Given the description of an element on the screen output the (x, y) to click on. 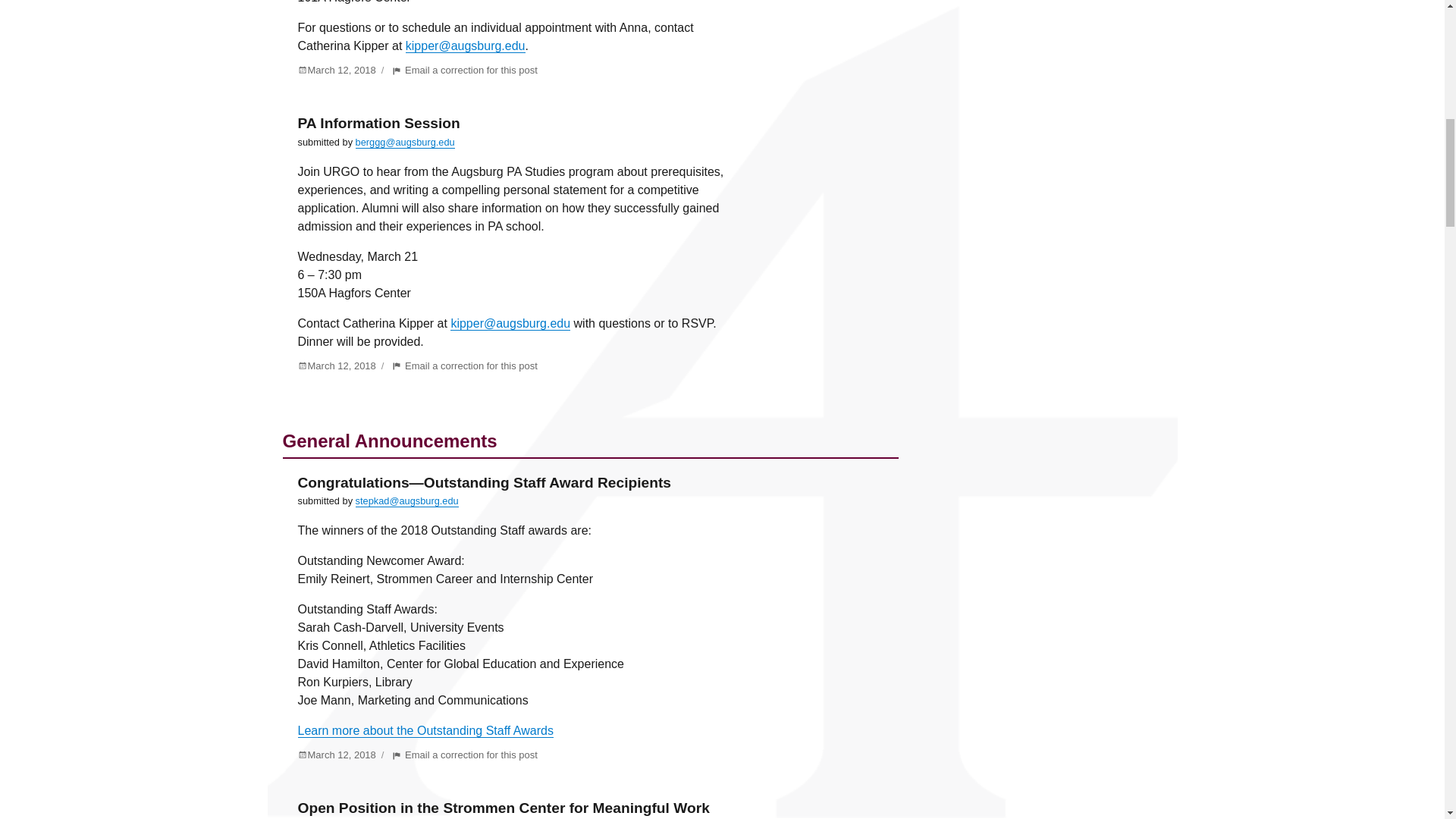
March 12, 2018 (336, 754)
Learn more about the Outstanding Staff Awards (425, 730)
Open Position in the Strommen Center for Meaningful Work (503, 807)
PA Information Session (378, 123)
March 12, 2018 (464, 365)
March 12, 2018 (336, 365)
